Given the description of an element on the screen output the (x, y) to click on. 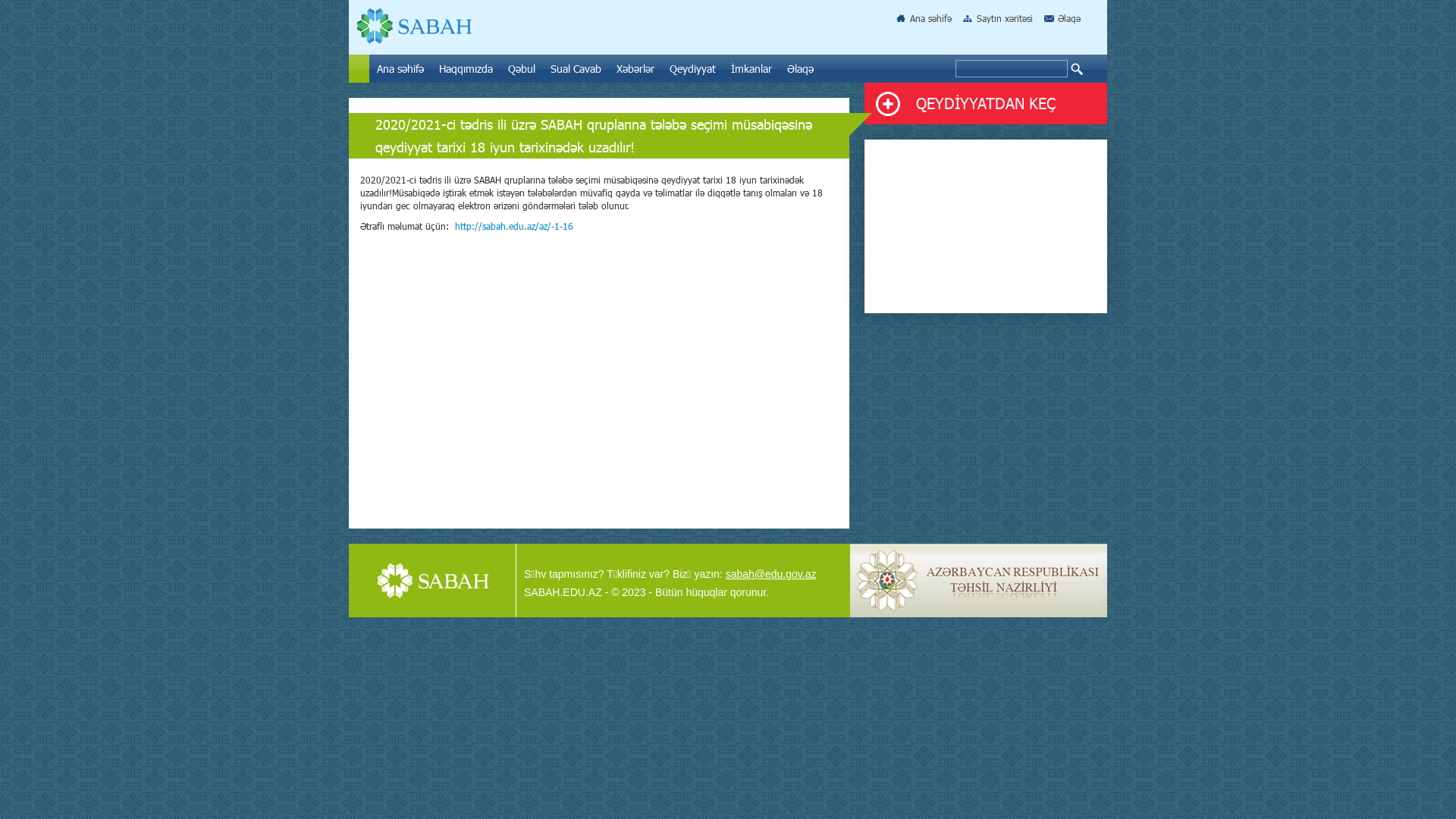
sabah@edu.gov.az Element type: text (770, 573)
Sual Cavab Element type: text (575, 68)
http://sabah.edu.az/az/-1-16 Element type: text (514, 225)
Qeydiyyat Element type: text (692, 68)
